Given the description of an element on the screen output the (x, y) to click on. 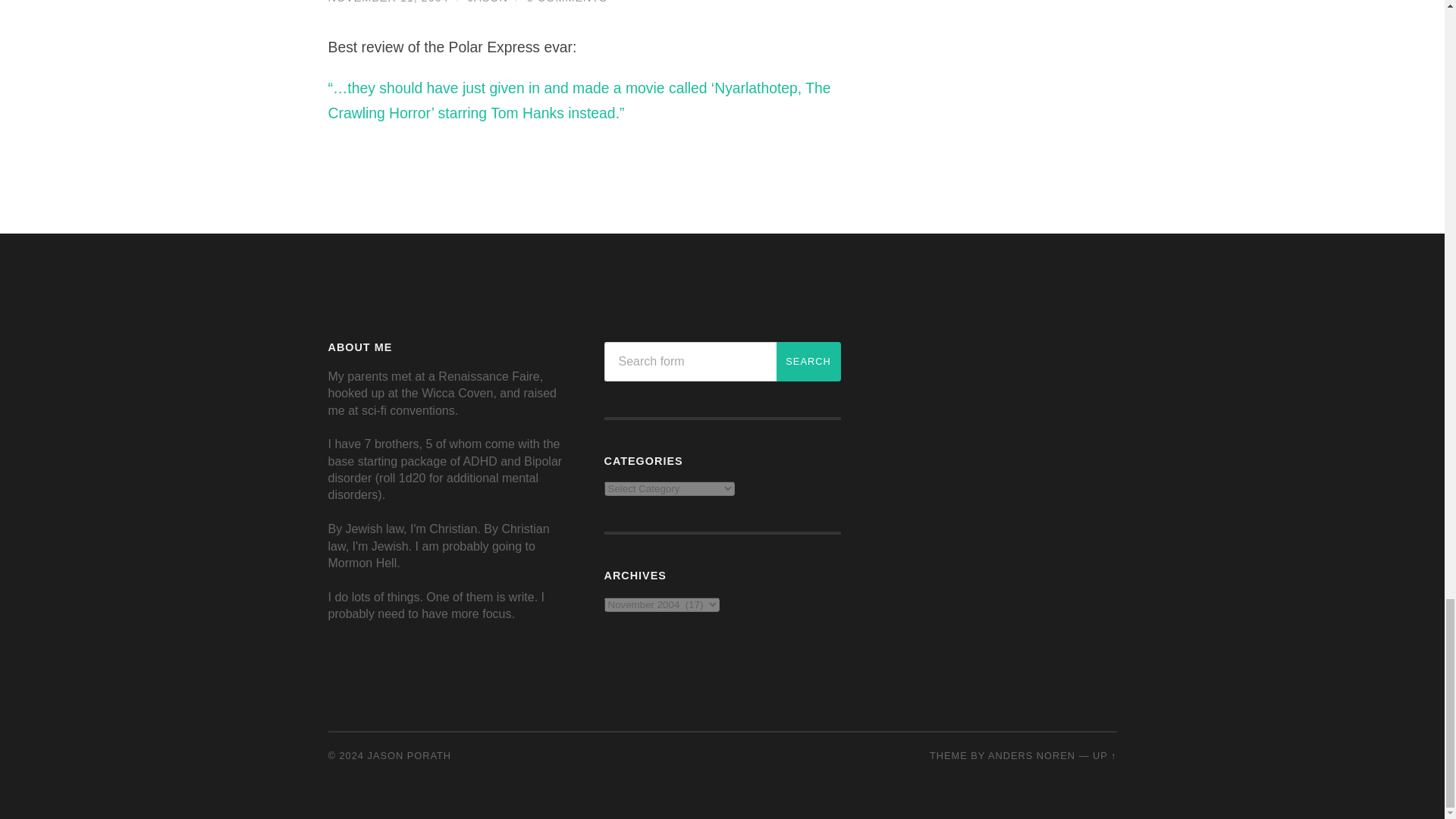
JASON (487, 2)
Posts by Jason (487, 2)
Search (808, 361)
NOVEMBER 11, 2004 (387, 2)
0 COMMENTS (567, 2)
